Given the description of an element on the screen output the (x, y) to click on. 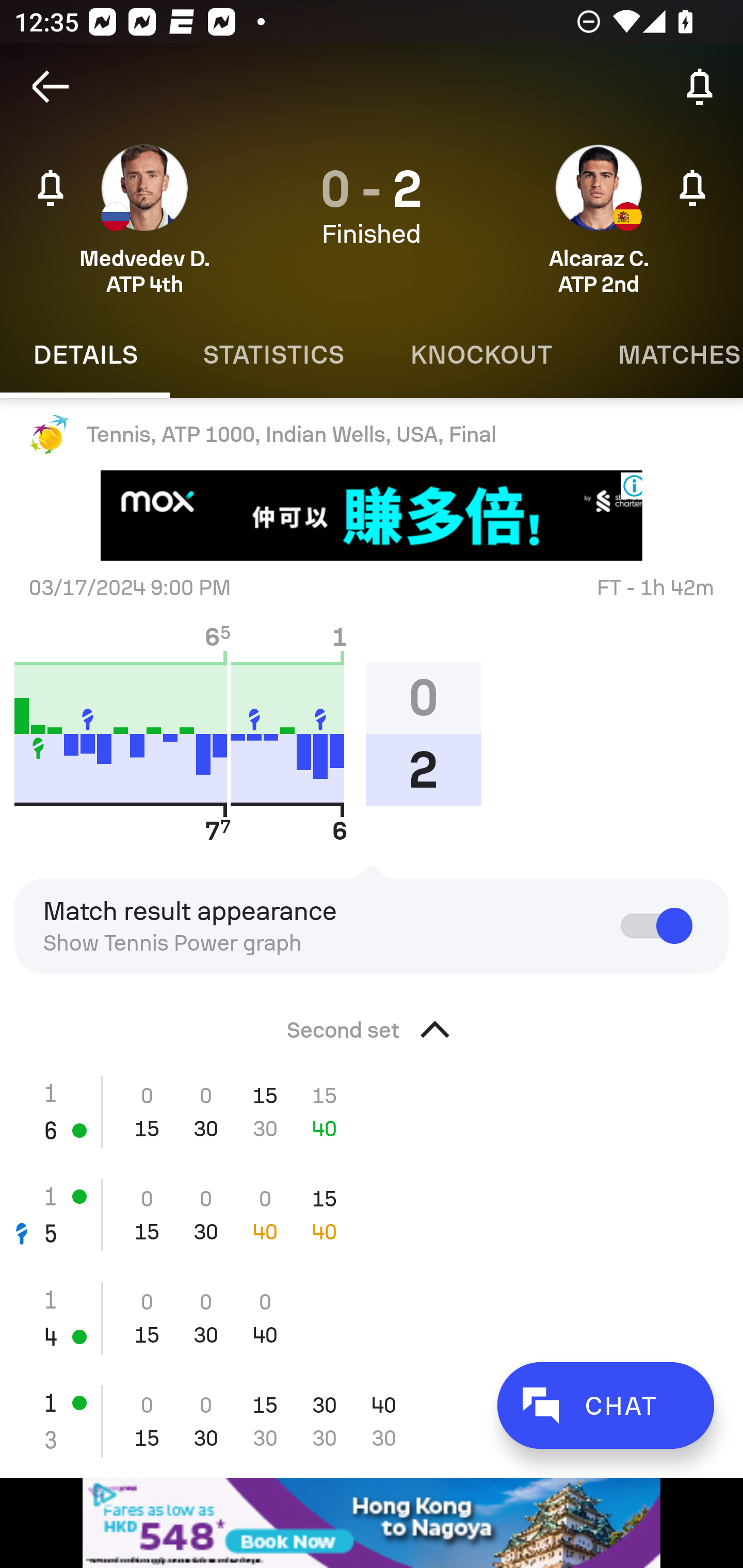
Navigate up (50, 86)
Statistics STATISTICS (273, 355)
Knockout KNOCKOUT (480, 355)
Matches MATCHES (663, 355)
Tennis, ATP 1000, Indian Wells, USA, Final (371, 434)
6 5 7 7 1 6 0 2 (255, 733)
Second set (371, 1023)
1 0 0 15 15 6 15 30 30 40 (371, 1111)
1 0 0 0 15 5 15 30 40 40 (371, 1214)
1 0 0 0 4 15 30 40 (371, 1318)
CHAT (605, 1405)
1 0 0 15 30 40 3 15 30 30 30 30 (371, 1421)
wi46309w_320x50 (371, 1522)
